Given the description of an element on the screen output the (x, y) to click on. 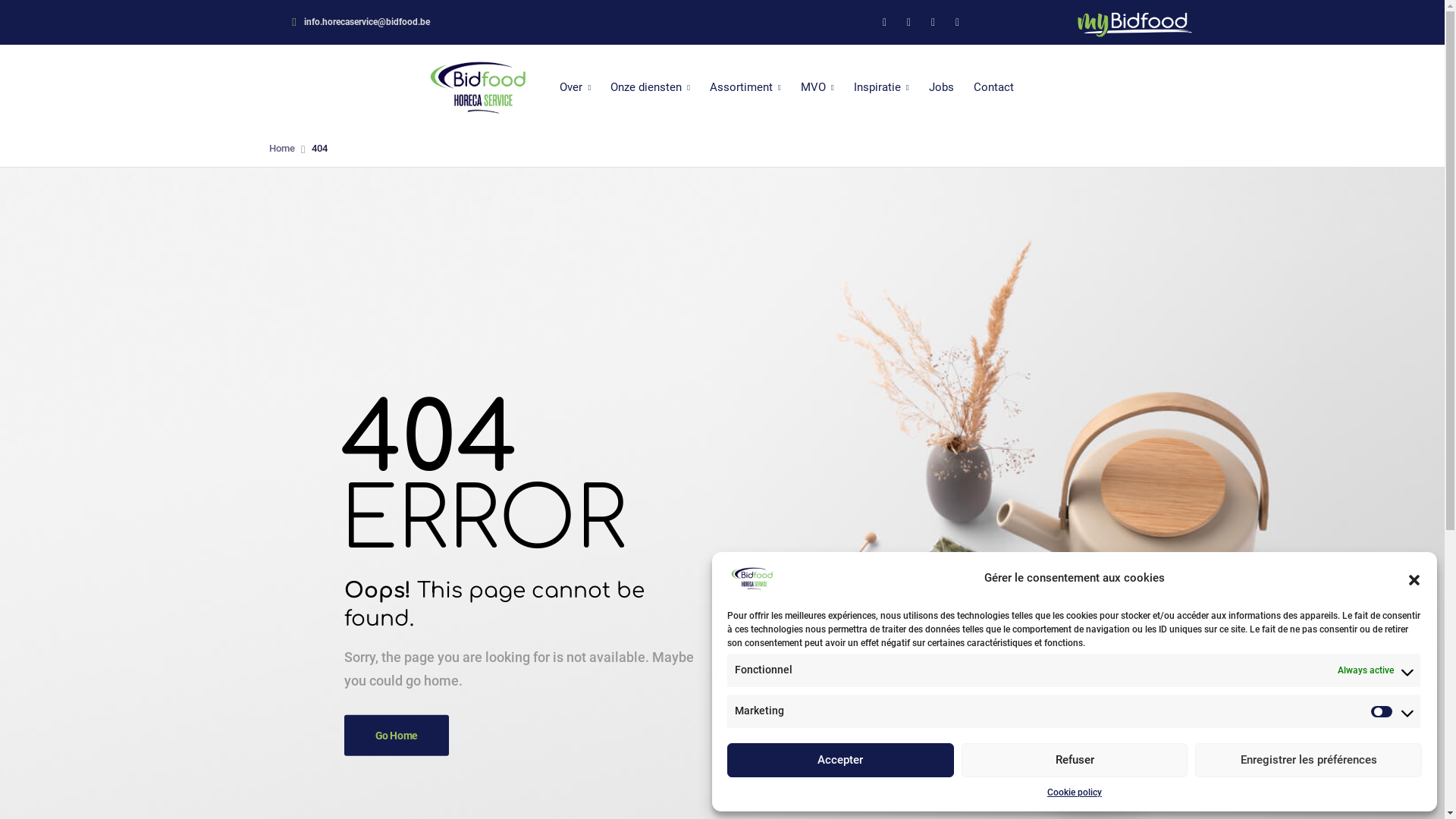
Home Element type: text (281, 147)
Inspiratie Element type: text (881, 87)
instagram Element type: hover (933, 22)
Contact Element type: text (993, 87)
Refuser Element type: text (1074, 760)
Go Home Element type: text (396, 735)
facebook Element type: hover (884, 22)
Accepter Element type: text (840, 760)
youtube Element type: hover (957, 22)
Assortiment Element type: text (744, 87)
linkedin Element type: hover (909, 22)
MVO Element type: text (817, 87)
Over Element type: text (574, 87)
Onze diensten Element type: text (649, 87)
Cookie policy Element type: text (1074, 792)
Jobs Element type: text (941, 87)
Bidfood Horeca Service - Inspired By You Element type: hover (477, 87)
